Given the description of an element on the screen output the (x, y) to click on. 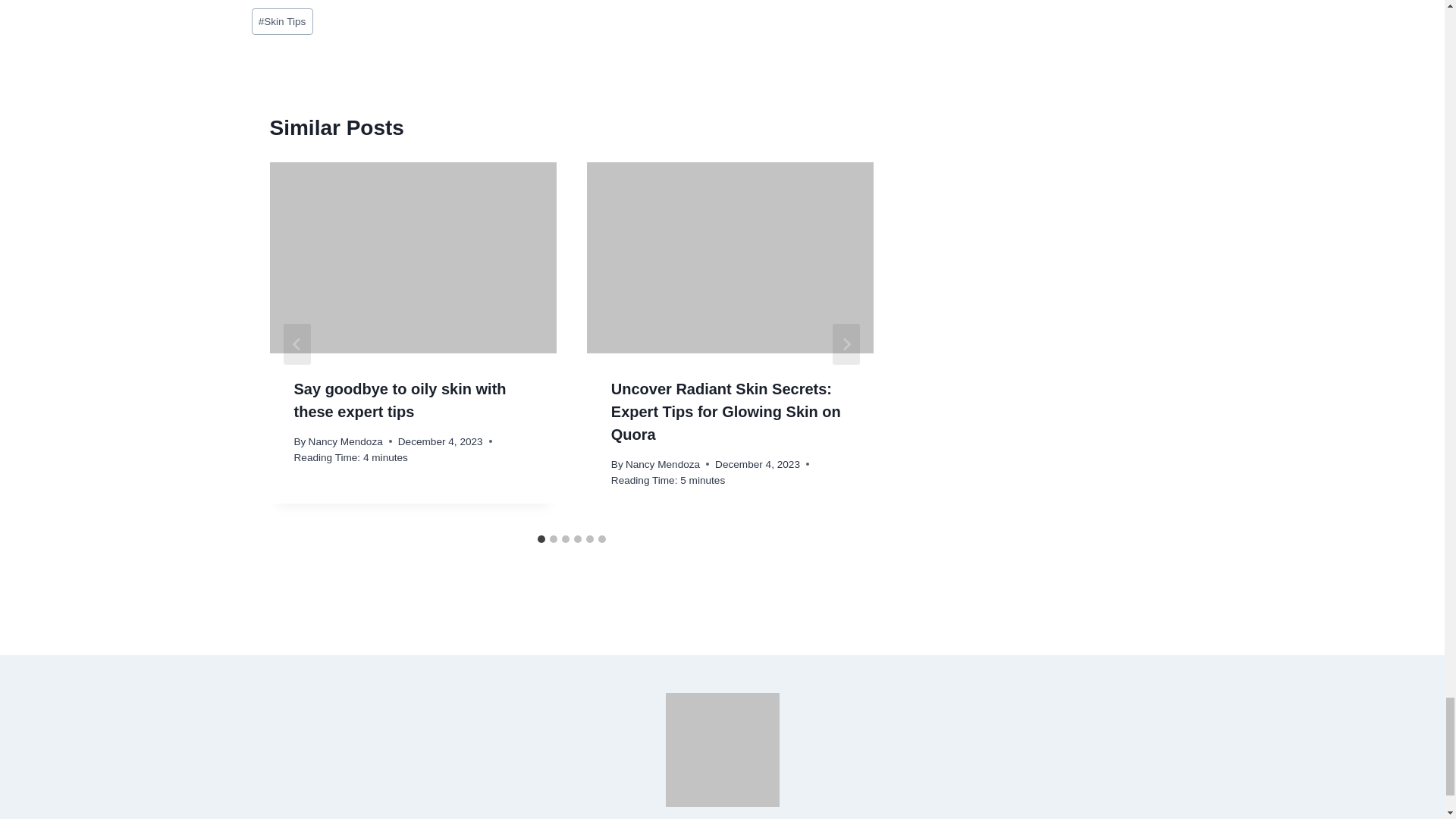
Nancy Mendoza (345, 440)
Say goodbye to oily skin with these expert tips  (400, 400)
Skin Tips (282, 21)
